Given the description of an element on the screen output the (x, y) to click on. 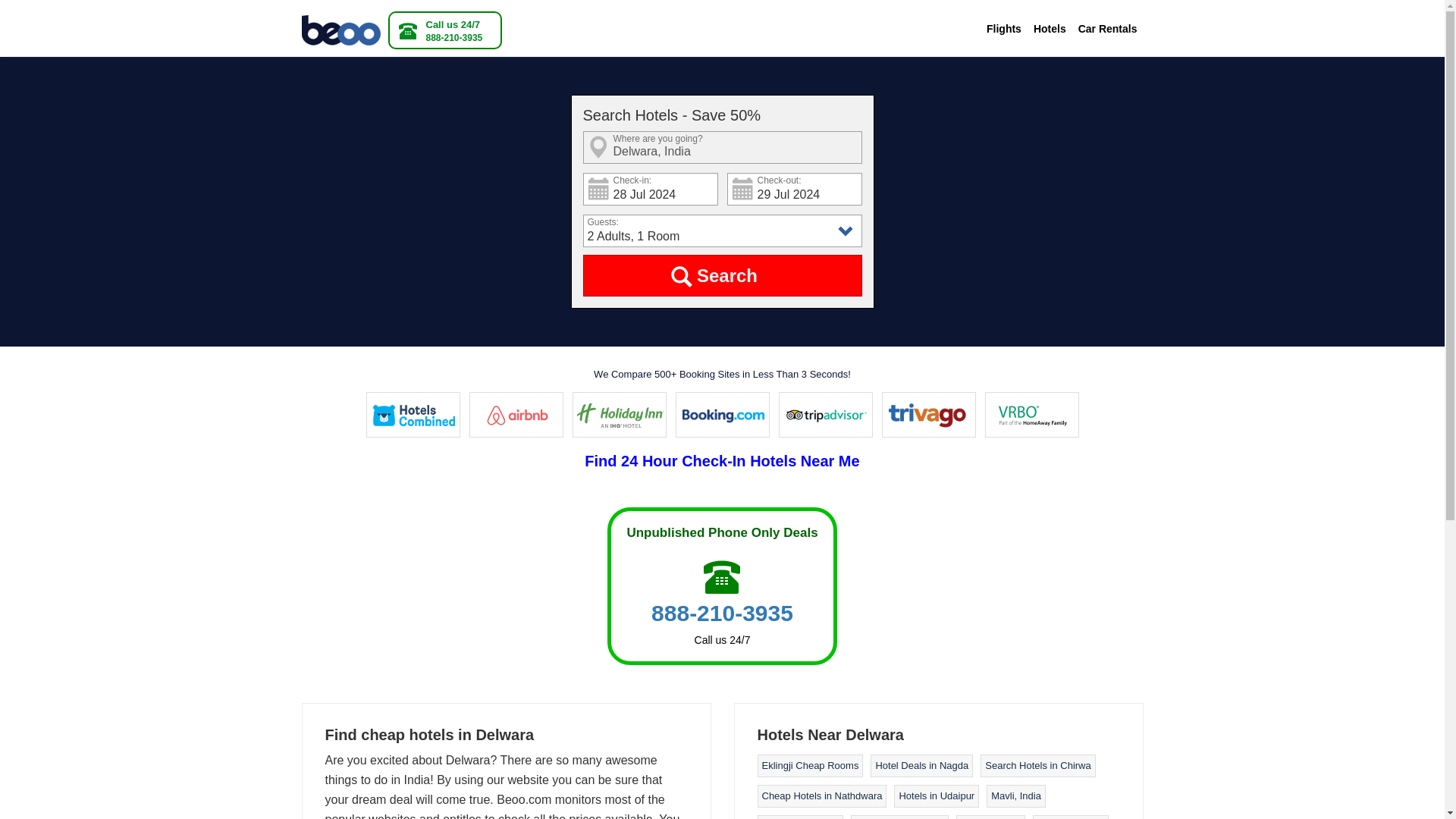
Delwara, India (721, 147)
Mavli, India (1016, 795)
Eklingji Cheap Rooms (810, 765)
Car Rentals (1106, 28)
Hotel Deals in Nagda (921, 765)
Hotels (1049, 28)
Find 24 Hour Check-In Hotels Near Me (722, 460)
Search (721, 275)
Flights (1003, 28)
Hotels in Udaipur (936, 795)
Search Hotels in Chirwa (1037, 765)
Cheap Hotels in Nathdwara (821, 795)
